Given the description of an element on the screen output the (x, y) to click on. 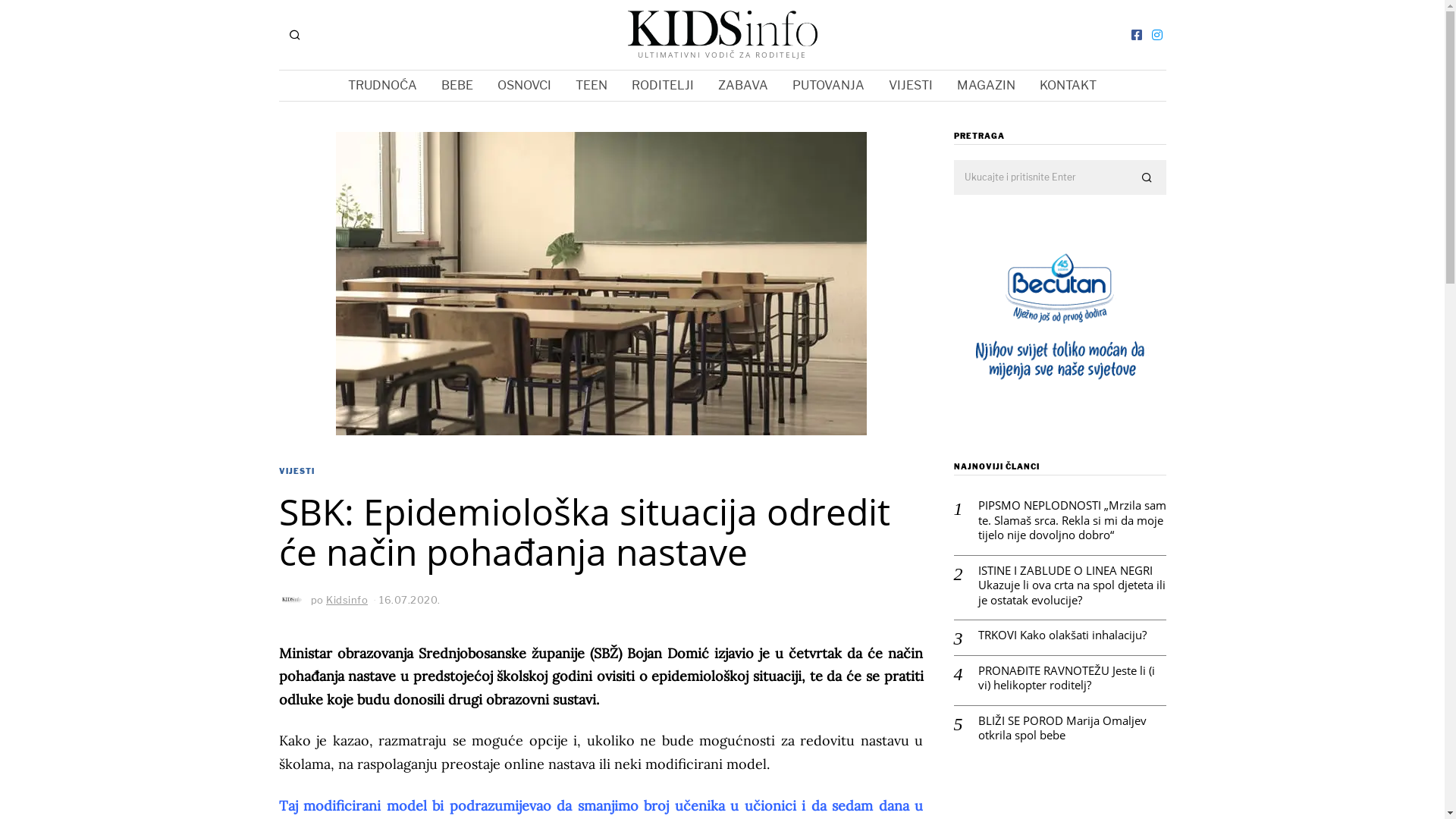
VIJESTI Element type: text (296, 471)
Kidsinfo Element type: text (346, 599)
VIJESTI Element type: text (910, 85)
BEBE Element type: text (456, 85)
Instagram Element type: text (1157, 34)
RODITELJI Element type: text (662, 85)
OSNOVCI Element type: text (523, 85)
Go Element type: hover (1147, 178)
MAGAZIN Element type: text (986, 85)
KONTAKT Element type: text (1068, 85)
ZABAVA Element type: text (742, 85)
PUTOVANJA Element type: text (828, 85)
TEEN Element type: text (591, 85)
Facebook Element type: text (1135, 34)
